Given the description of an element on the screen output the (x, y) to click on. 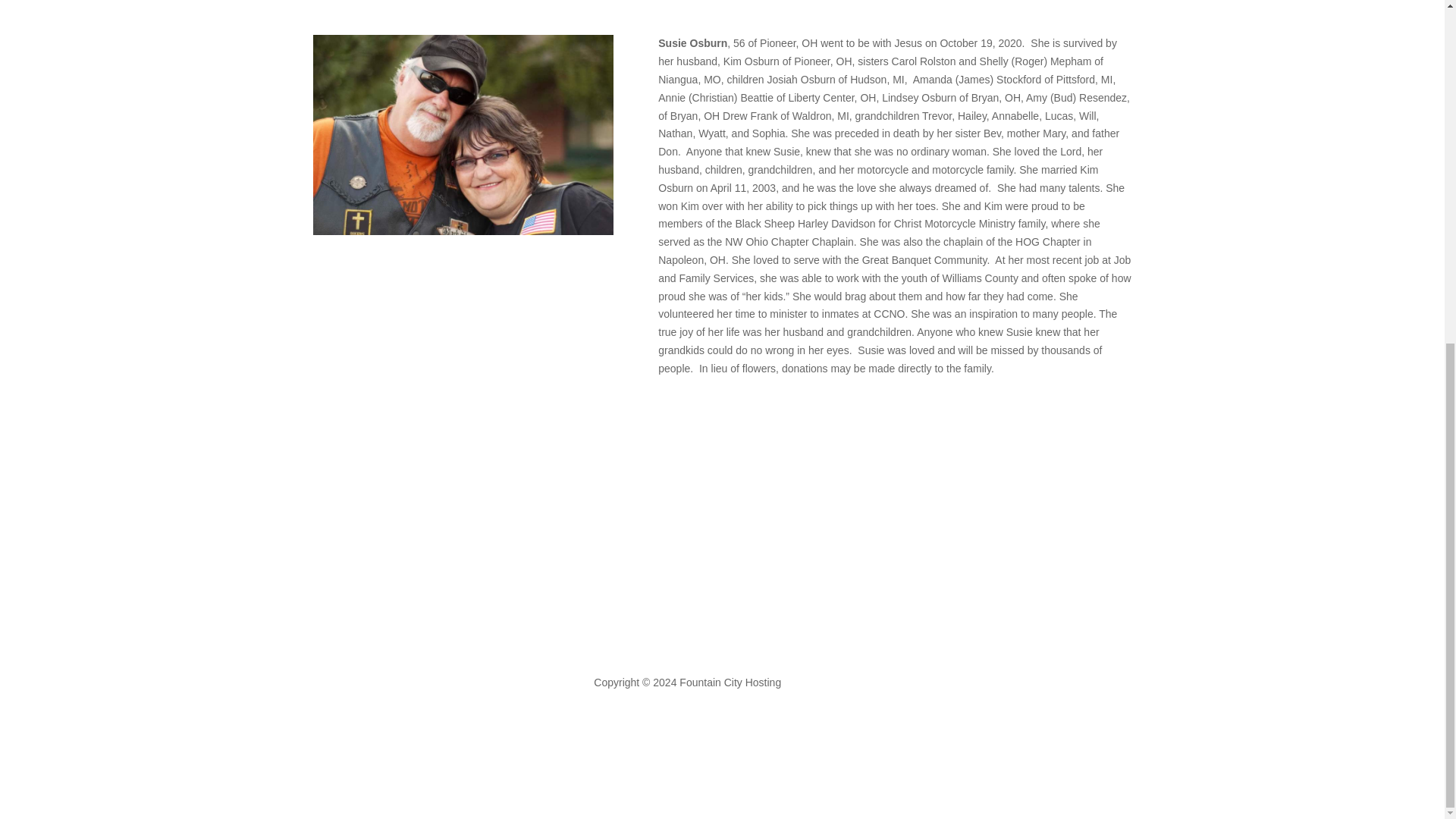
Follow on Instagram (635, 643)
Follow on Facebook (605, 643)
Susie-and-Kim-Osburn (462, 134)
